Given the description of an element on the screen output the (x, y) to click on. 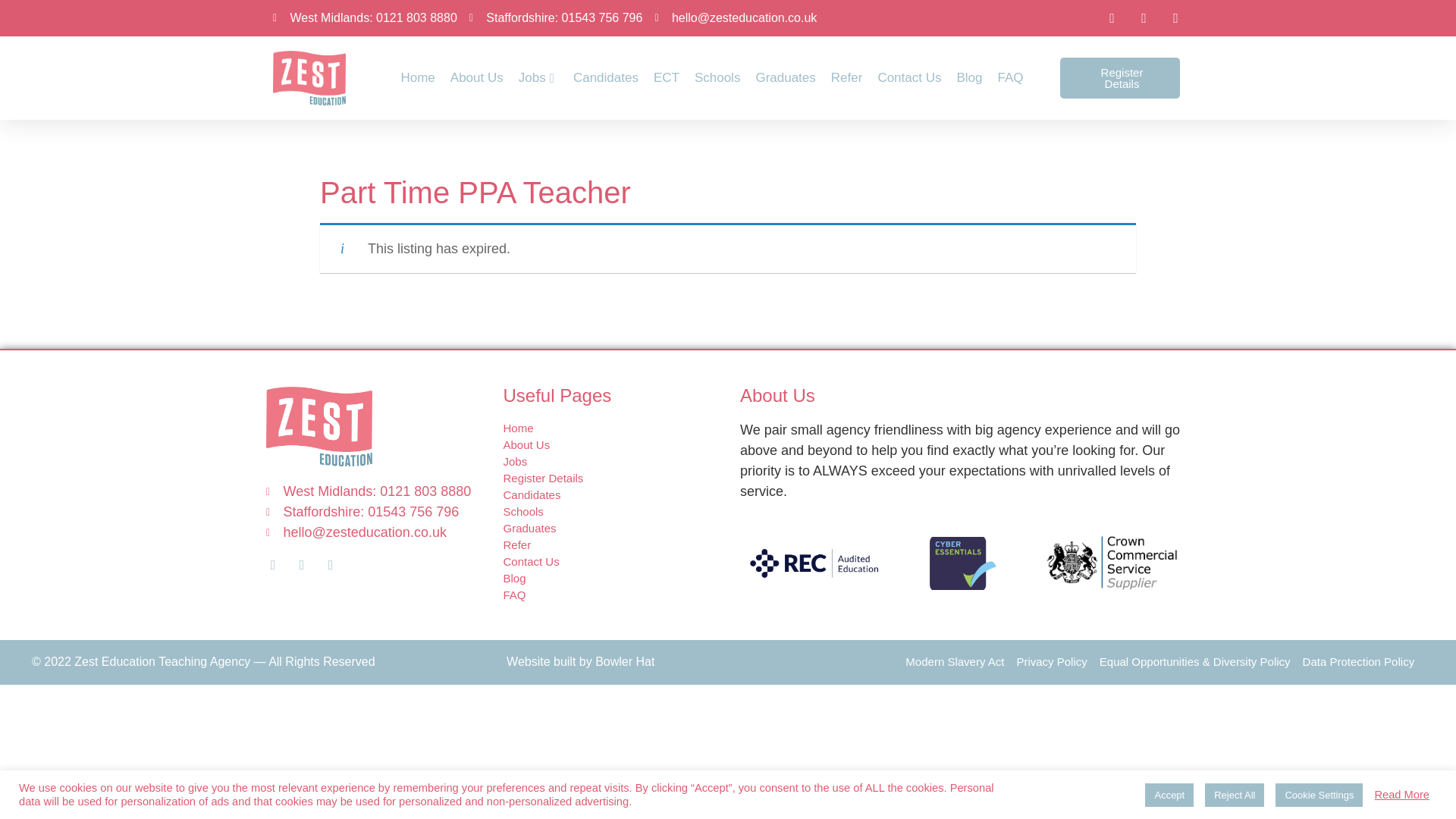
Staffordshire: 01543 756 796 (555, 18)
West Midlands: 0121 803 8880 (365, 18)
